Given the description of an element on the screen output the (x, y) to click on. 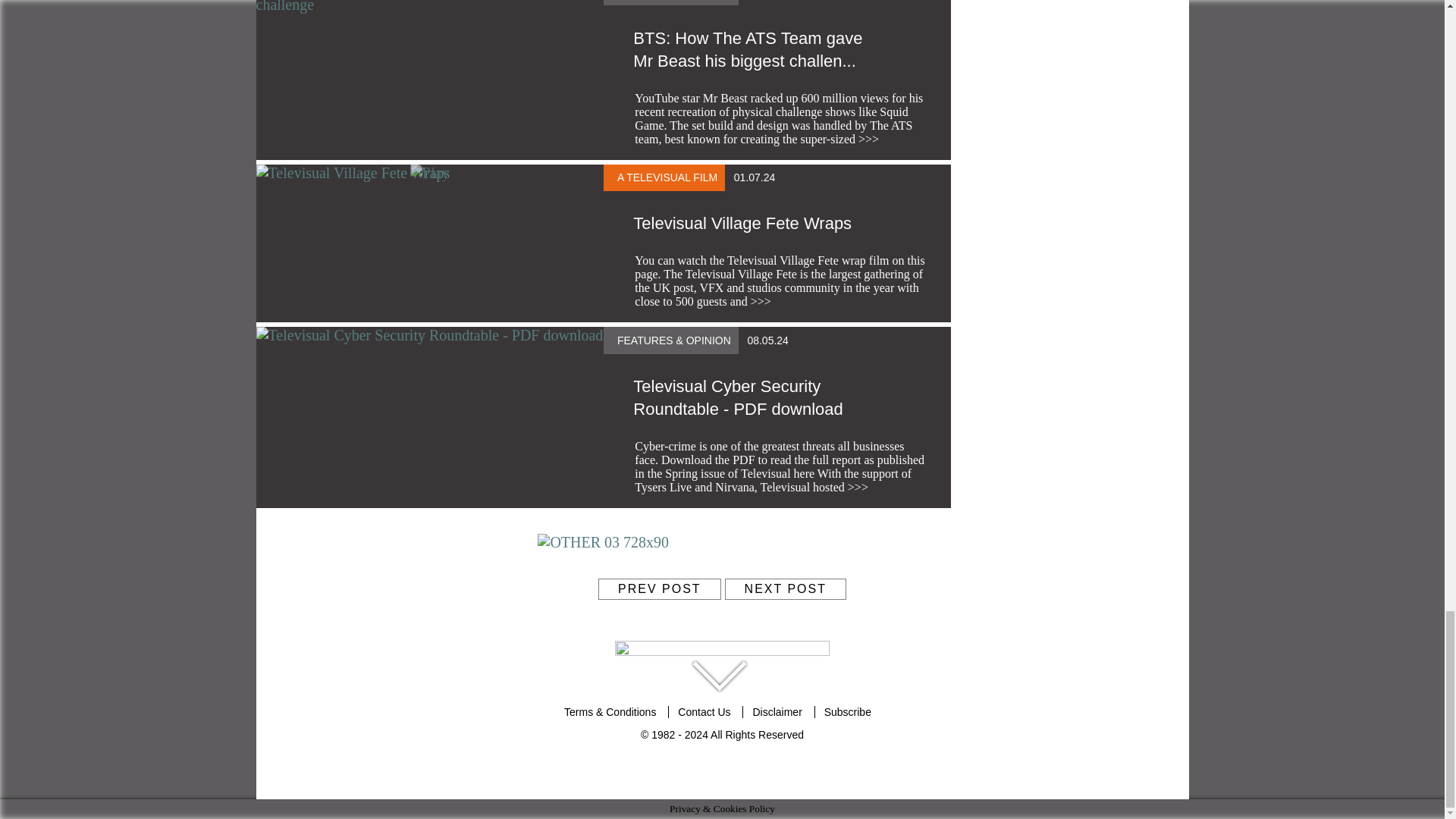
televisual-logo (721, 653)
